Given the description of an element on the screen output the (x, y) to click on. 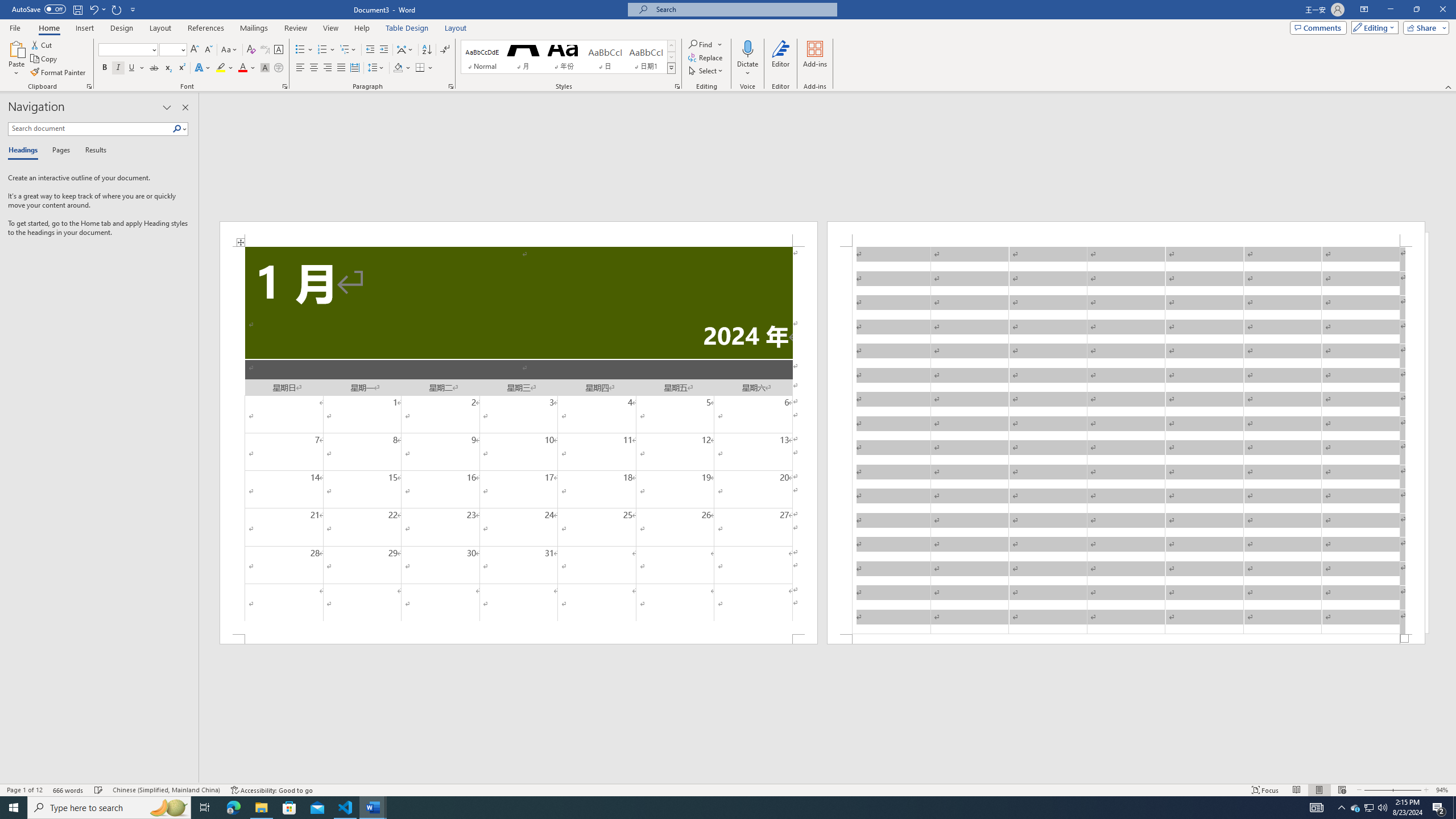
Italic (118, 67)
Row Down (670, 56)
Header -Section 1- (1126, 233)
Shrink Font (208, 49)
Clear Formatting (250, 49)
Search document (89, 128)
Format Painter (58, 72)
Results (91, 150)
